Given the description of an element on the screen output the (x, y) to click on. 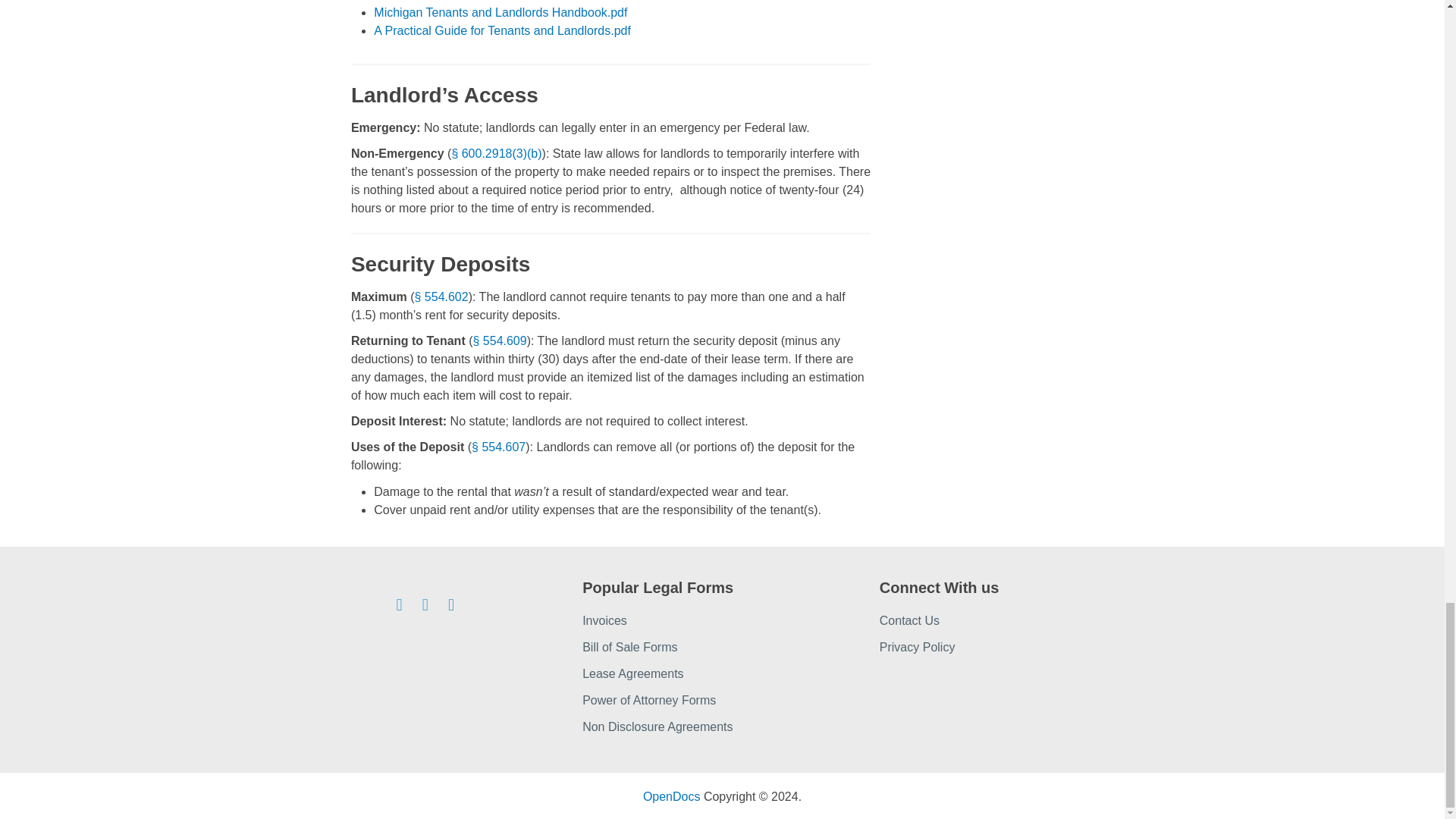
Open Docs (671, 796)
